Given the description of an element on the screen output the (x, y) to click on. 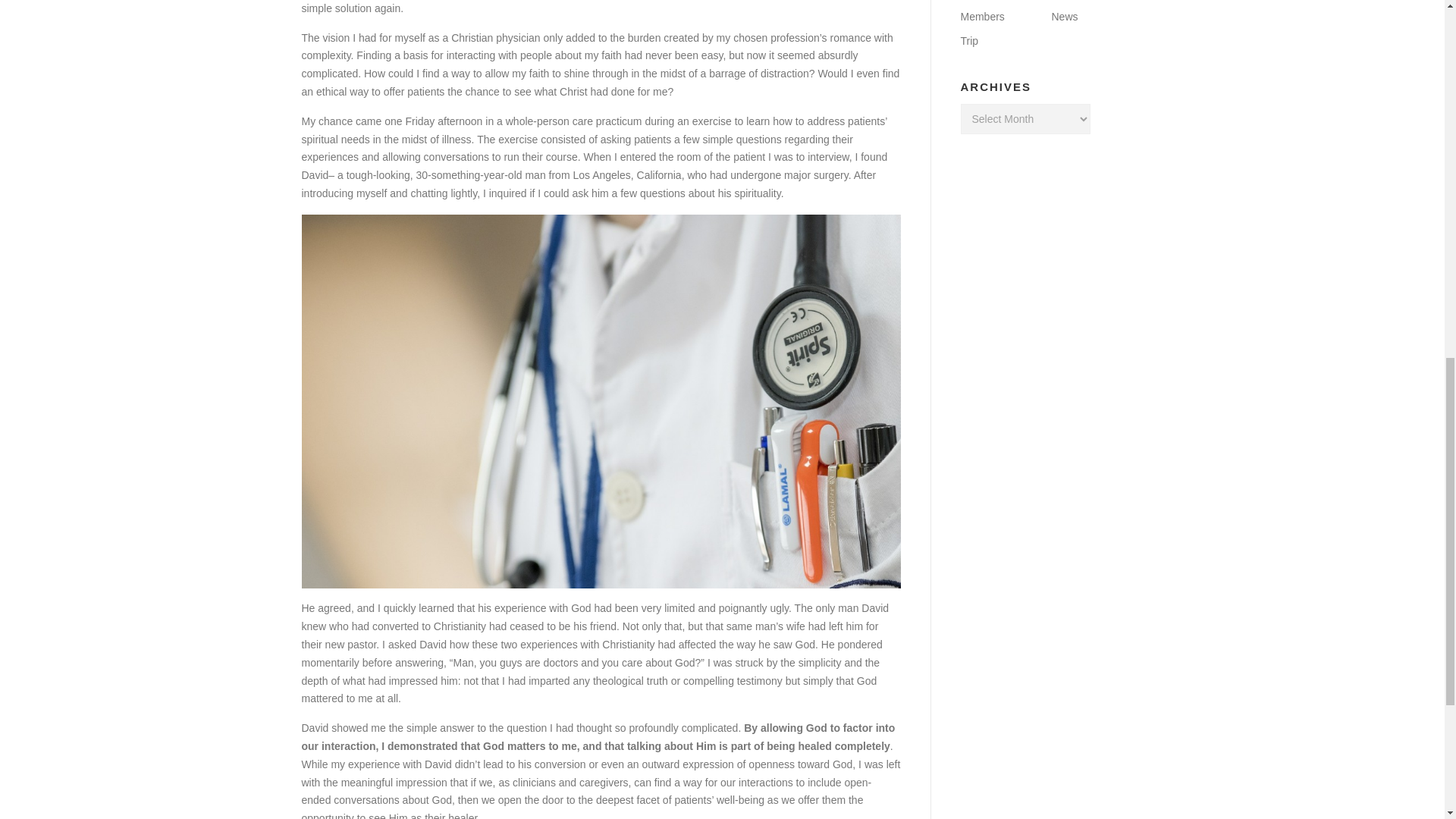
Trip (968, 40)
News (1064, 16)
Members (981, 16)
